Given the description of an element on the screen output the (x, y) to click on. 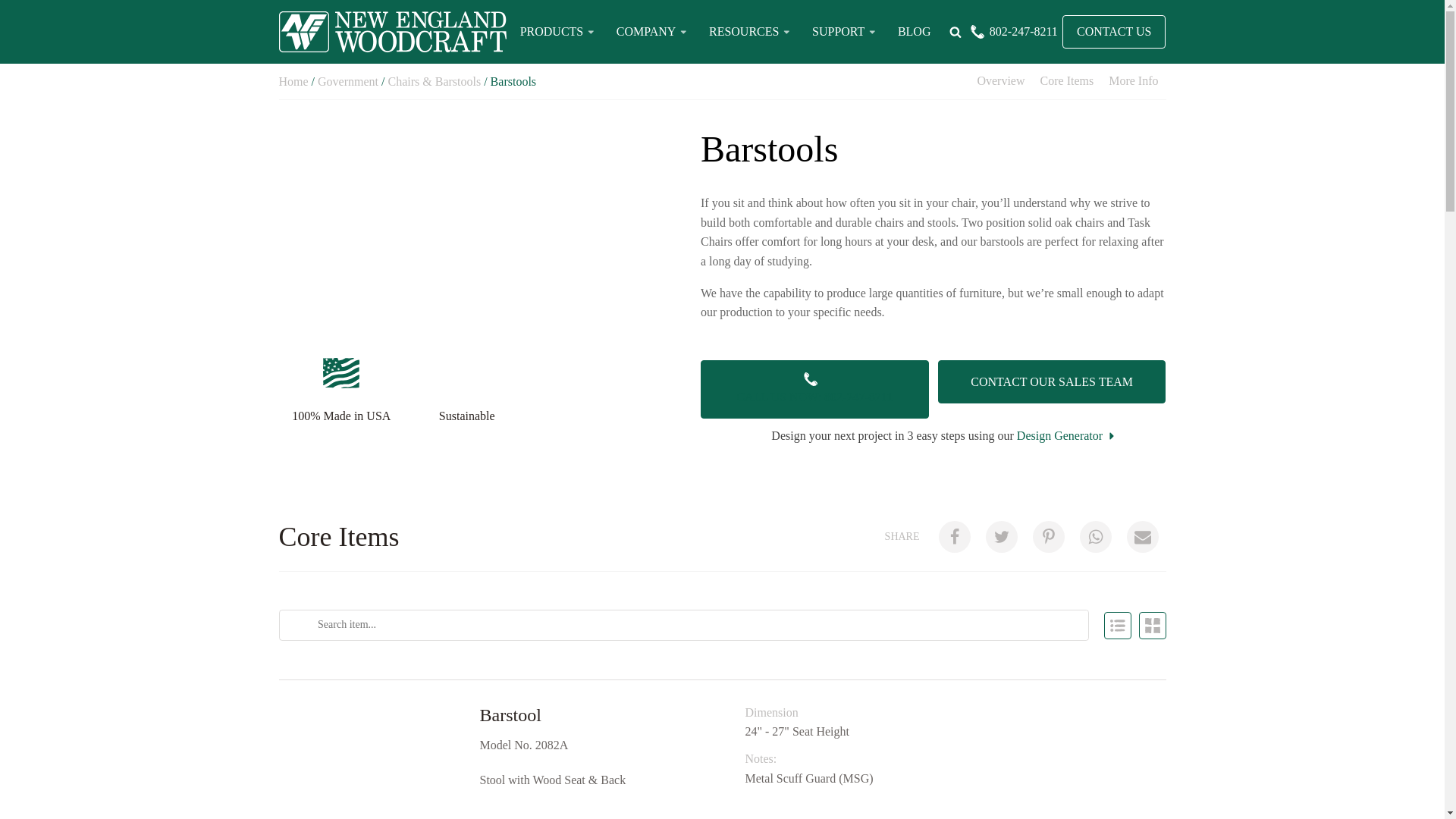
More Info (1133, 81)
SUPPORT (845, 31)
BLOG (914, 31)
PRODUCTS (558, 31)
CALL US NOW: 802-247-8211 (814, 389)
Design Generator (1067, 435)
Home (293, 80)
RESOURCES (750, 31)
Overview (1000, 81)
Government (347, 80)
